Given the description of an element on the screen output the (x, y) to click on. 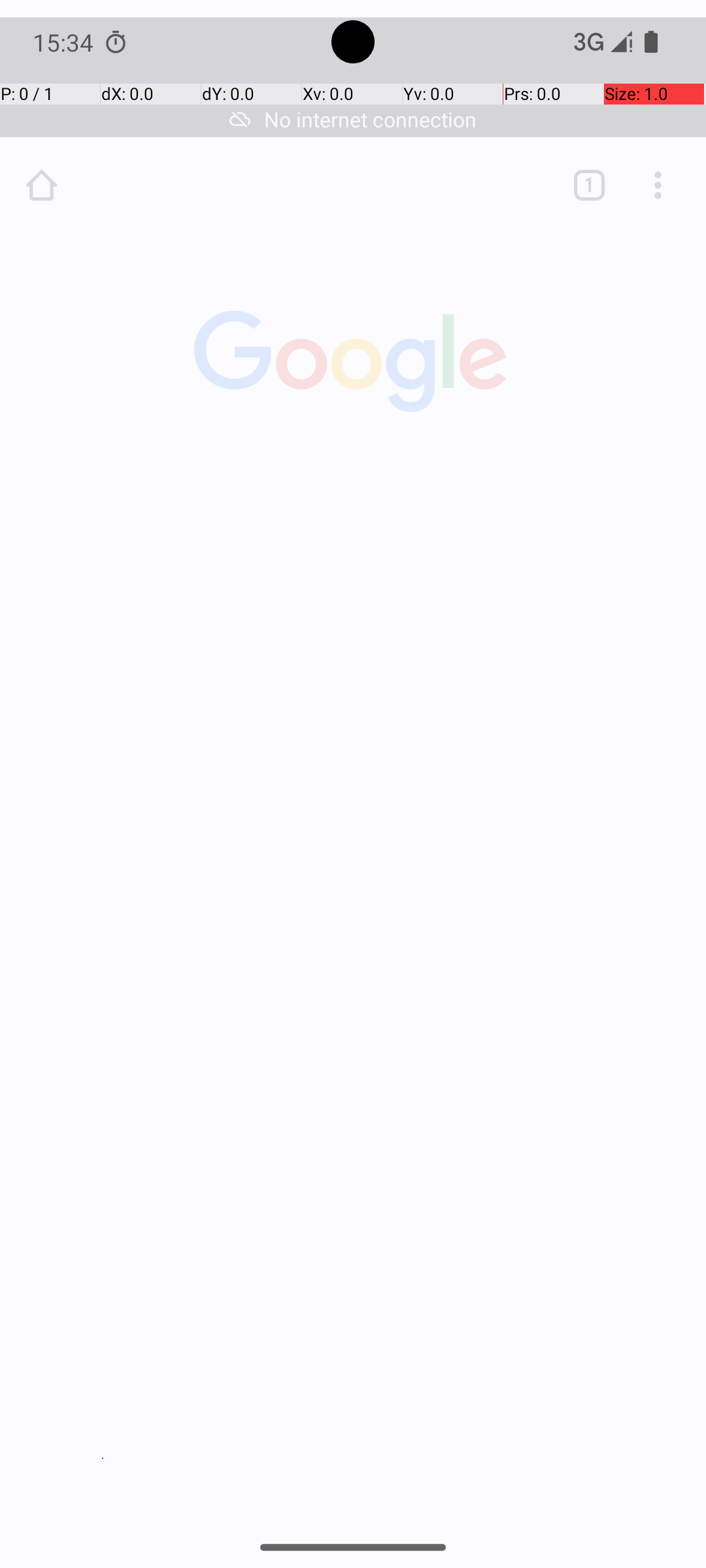
Can't refresh Discover Element type: android.widget.TextView (352, 1047)
Check back later for new stories Element type: android.widget.TextView (352, 1089)
